Given the description of an element on the screen output the (x, y) to click on. 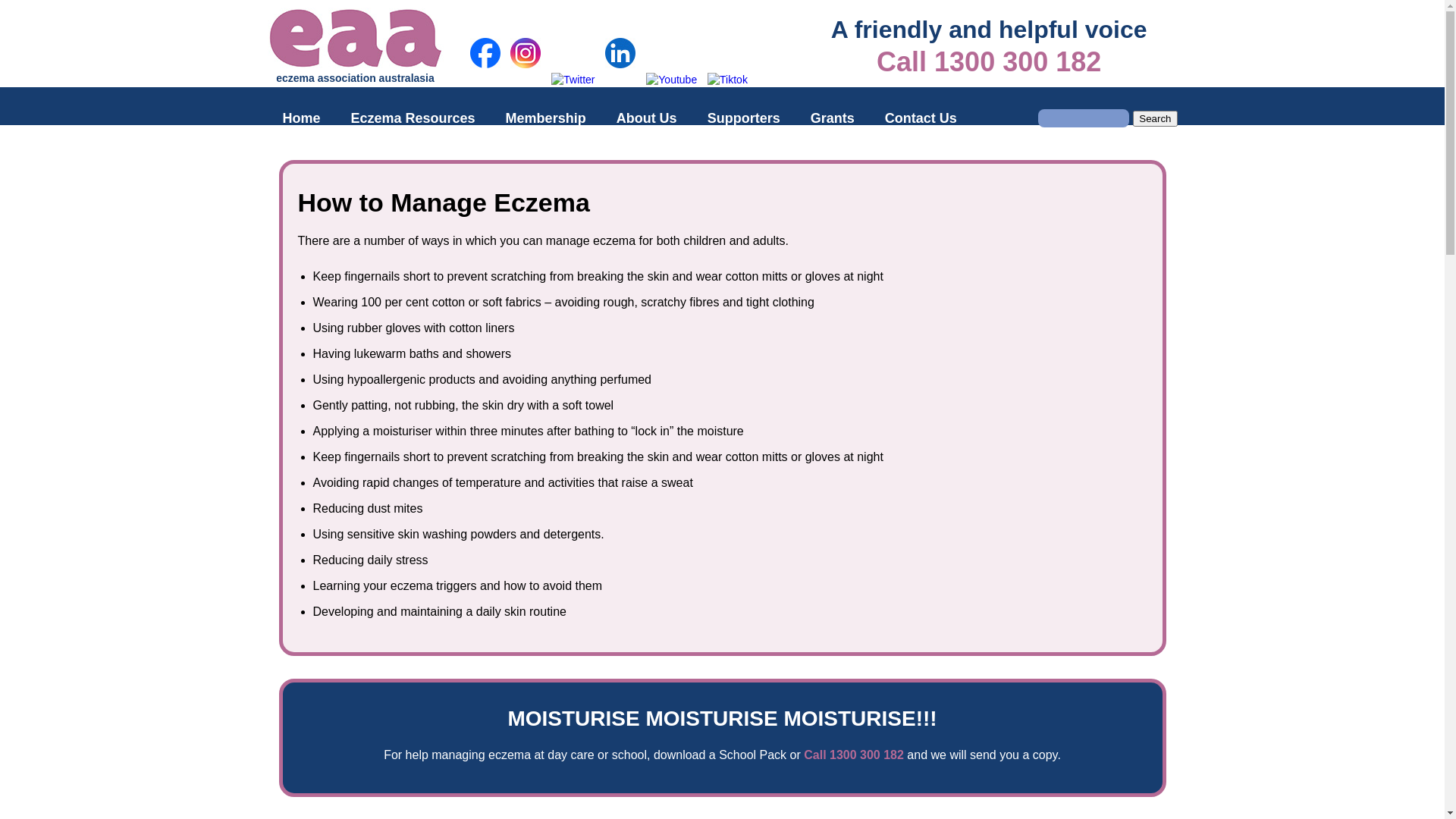
Call 1300 300 182 Element type: text (853, 754)
Call 1300 300 182 Element type: text (988, 61)
Eczema Association of Australasia Inc Instagram Element type: hover (525, 52)
Eczema Association of Australasia Inc Youtube Element type: hover (671, 79)
Eczema Association of Australasia Inc Instagram Element type: hover (525, 79)
About Us Element type: text (646, 118)
Home Element type: text (300, 118)
Eczema Association of Australasia Inc Tiktok Element type: hover (727, 79)
Eczema Resources Element type: text (412, 118)
Eczema Association of Australasia Inc Twitter Element type: hover (572, 79)
Eczema Association of Australasia Inc Youtube Element type: hover (671, 79)
Eczema Association of Australasia Inc Facebook Element type: hover (485, 52)
Eczema Association of Australasia Inc Logo Element type: hover (354, 37)
Contact Us Element type: text (920, 118)
Eczema Association of Australasia Inc Linkedin Element type: hover (620, 52)
Supporters Element type: text (743, 118)
Eczema Association of Australasia Inc Linkedin Element type: hover (620, 79)
Eczema Association of Australasia Inc Facebook Element type: hover (484, 79)
Membership Element type: text (545, 118)
Eczema Association of Australasia Inc Twitter Element type: hover (572, 79)
Eczema Association of Australasia Inc Tiktok Element type: hover (727, 79)
Search Element type: text (1154, 118)
Grants Element type: text (832, 118)
